Given the description of an element on the screen output the (x, y) to click on. 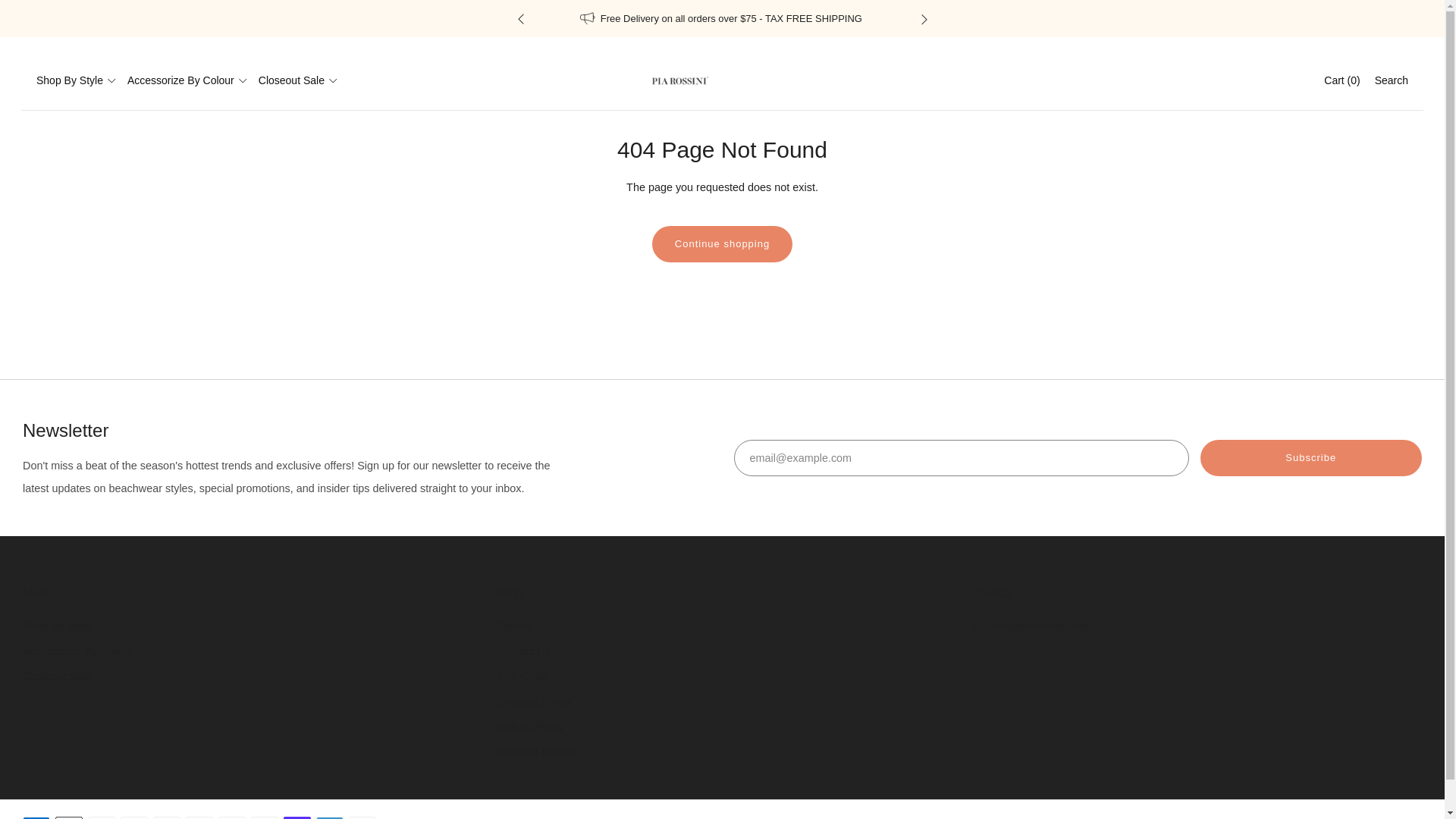
Mastercard (232, 814)
American Express (36, 814)
Shop By Style (76, 79)
PayPal (264, 814)
Shop Pay (297, 814)
Google Pay (199, 814)
Accessorize By Colour (187, 79)
Visa (362, 814)
Discover (134, 814)
Venmo (329, 814)
Apple Pay (68, 814)
Meta Pay (166, 814)
Diners Club (101, 814)
